Given the description of an element on the screen output the (x, y) to click on. 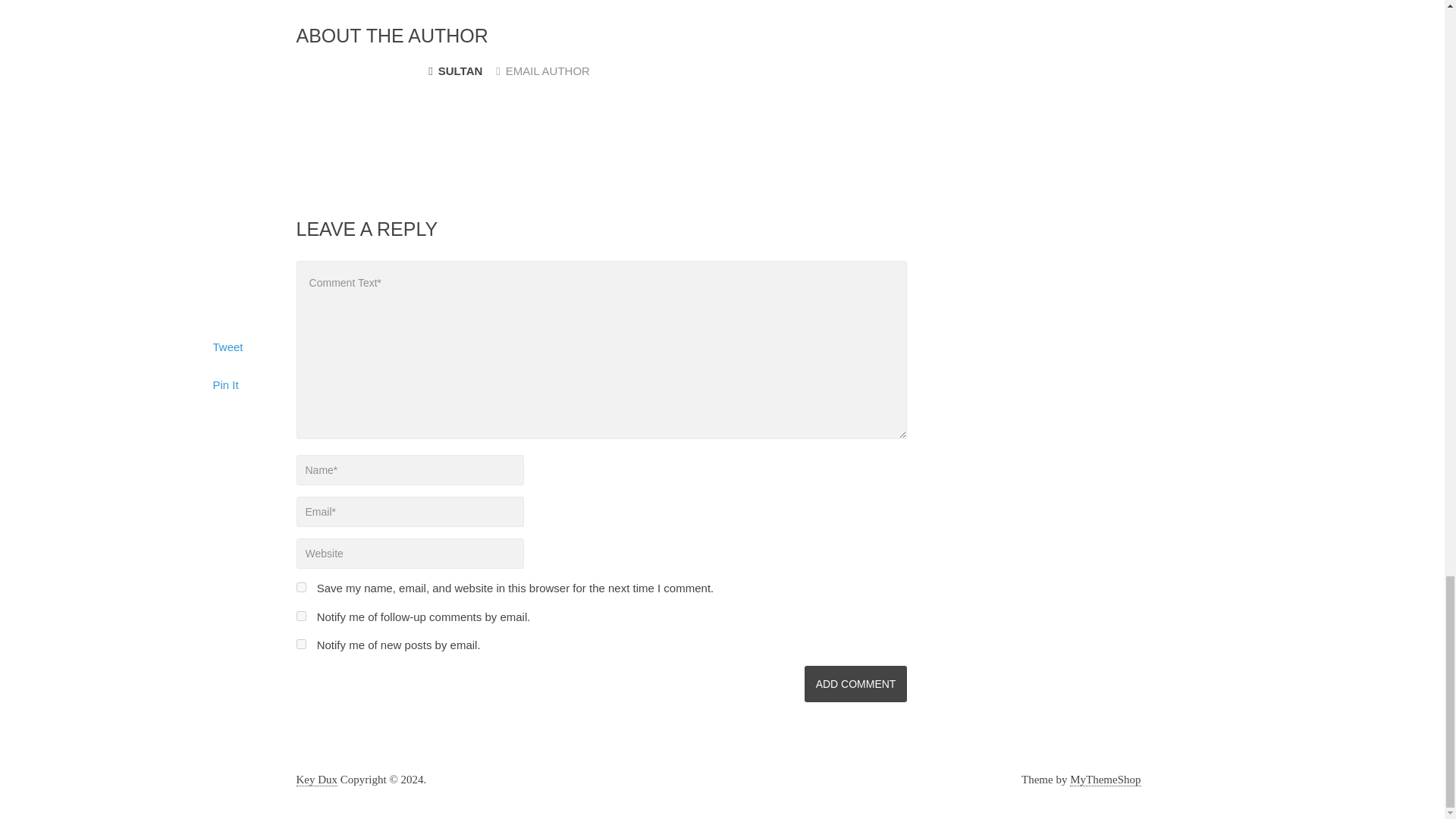
SULTAN (454, 71)
subscribe (300, 615)
yes (300, 587)
Add Comment (856, 683)
subscribe (300, 644)
